Given the description of an element on the screen output the (x, y) to click on. 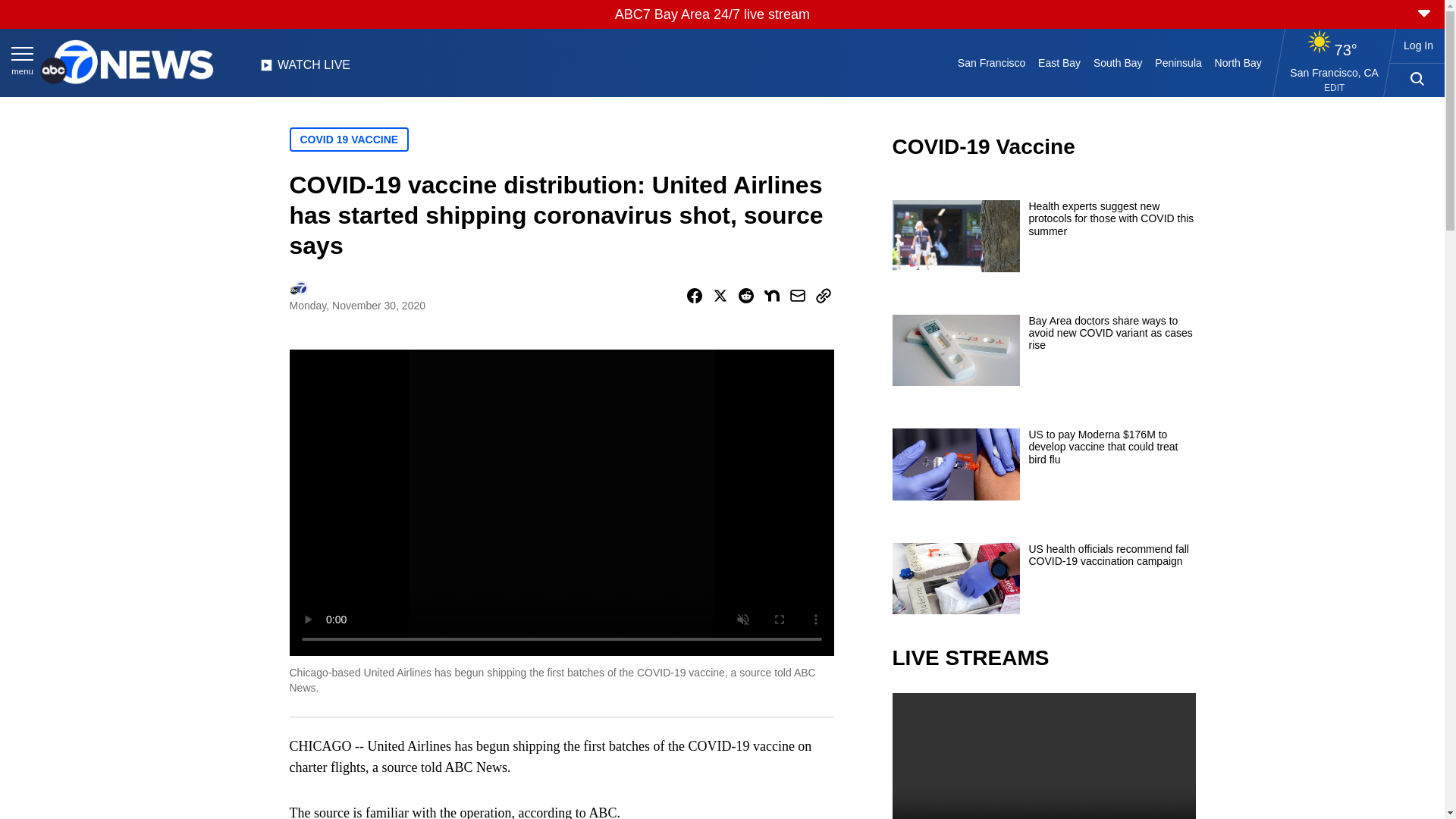
East Bay (1059, 62)
video.title (1043, 755)
EDIT (1333, 87)
WATCH LIVE (305, 69)
North Bay (1238, 62)
San Francisco (990, 62)
Peninsula (1178, 62)
South Bay (1117, 62)
San Francisco, CA (1334, 72)
